Given the description of an element on the screen output the (x, y) to click on. 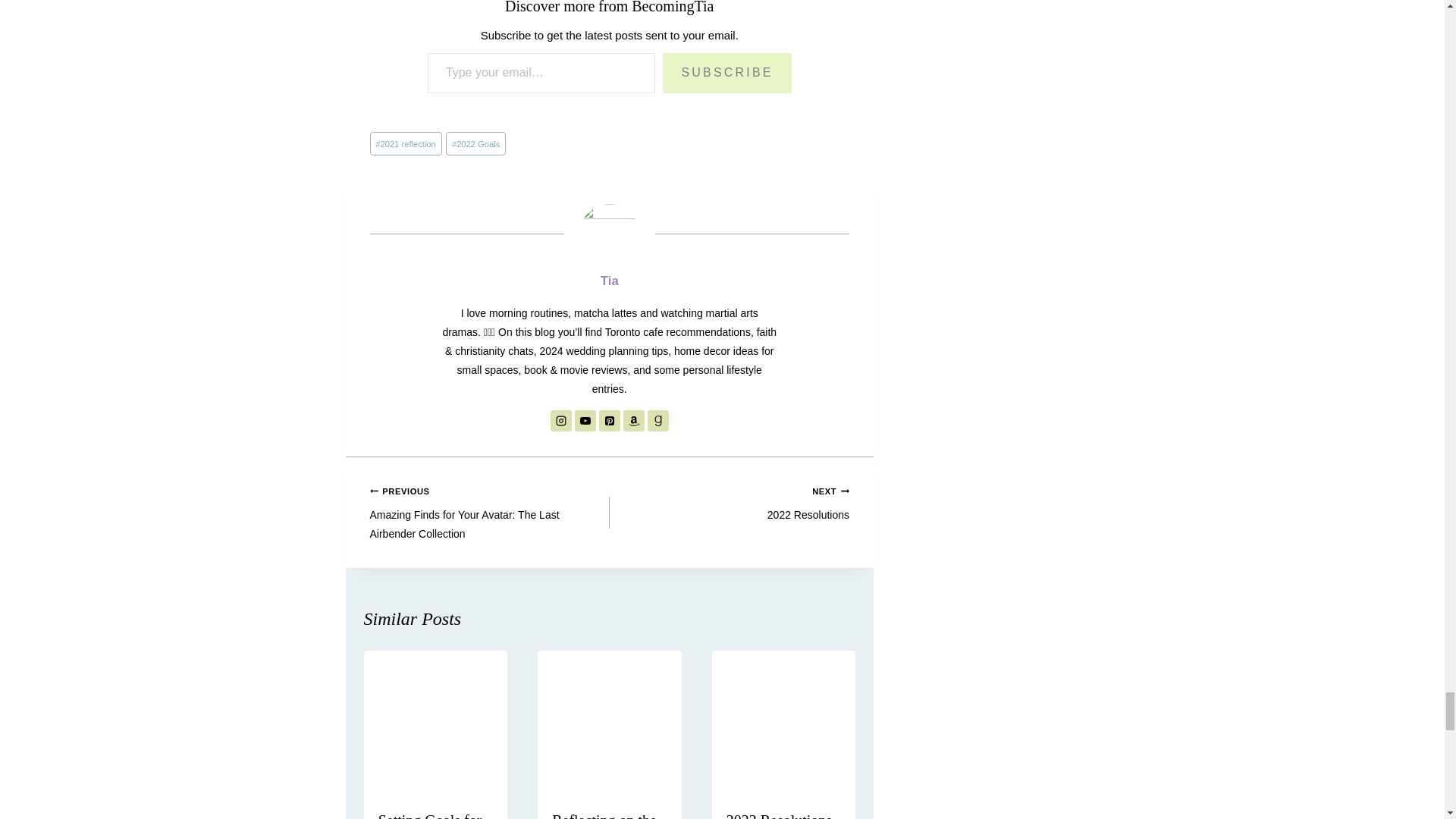
Please fill in this field. (542, 73)
Follow Tia on Youtube (585, 420)
2021 reflection (405, 143)
Posts by Tia (608, 280)
Follow Tia on Pinterest (609, 420)
Follow Tia on Instagram (561, 420)
2022 Goals (475, 143)
Tia (608, 280)
SUBSCRIBE (726, 73)
